Given the description of an element on the screen output the (x, y) to click on. 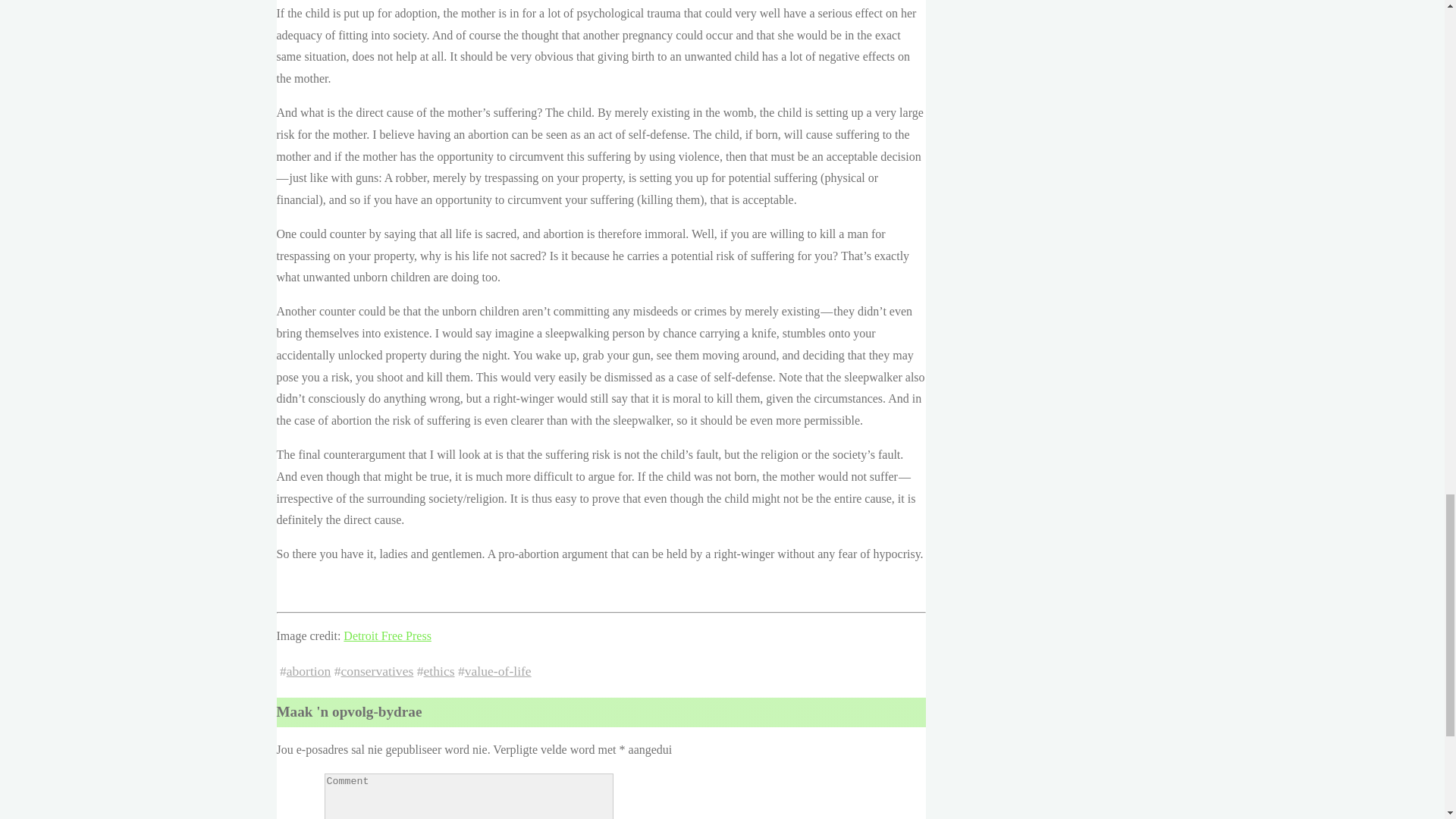
conservatives (376, 670)
abortion (308, 670)
value-of-life (497, 670)
ethics (438, 670)
Detroit Free Press (386, 635)
